Given the description of an element on the screen output the (x, y) to click on. 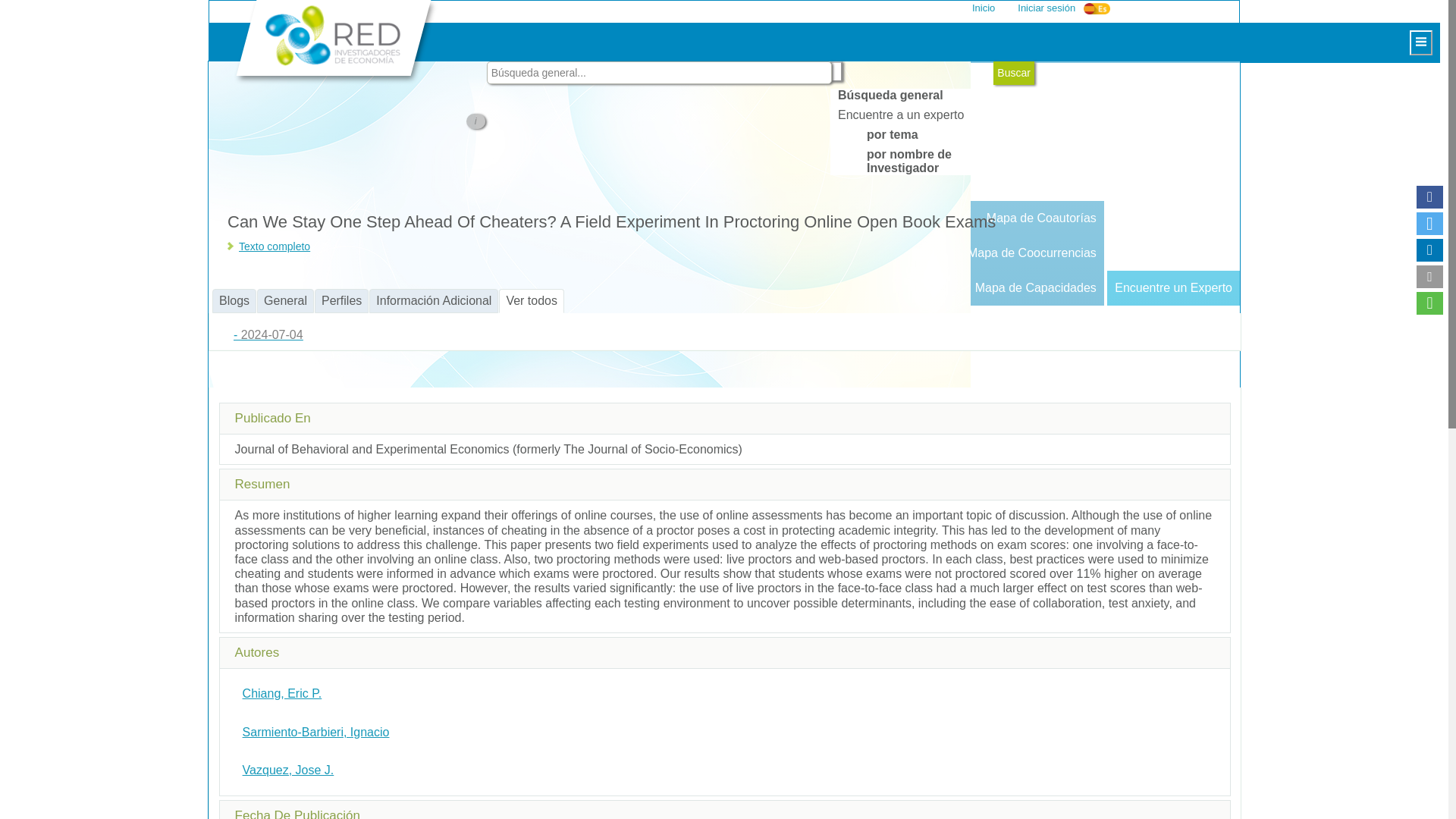
Buscar (1012, 73)
Nosotros (499, 78)
Noticias (499, 217)
University-Member (681, 288)
Proyectos (499, 113)
Inicio (983, 7)
Researcher (601, 288)
Groups (755, 288)
user (1113, 8)
Miembros (601, 288)
Cursos (499, 148)
Inicio (983, 7)
texto del enlace (274, 246)
Blogs (499, 288)
Nombre del autor (282, 693)
